Given the description of an element on the screen output the (x, y) to click on. 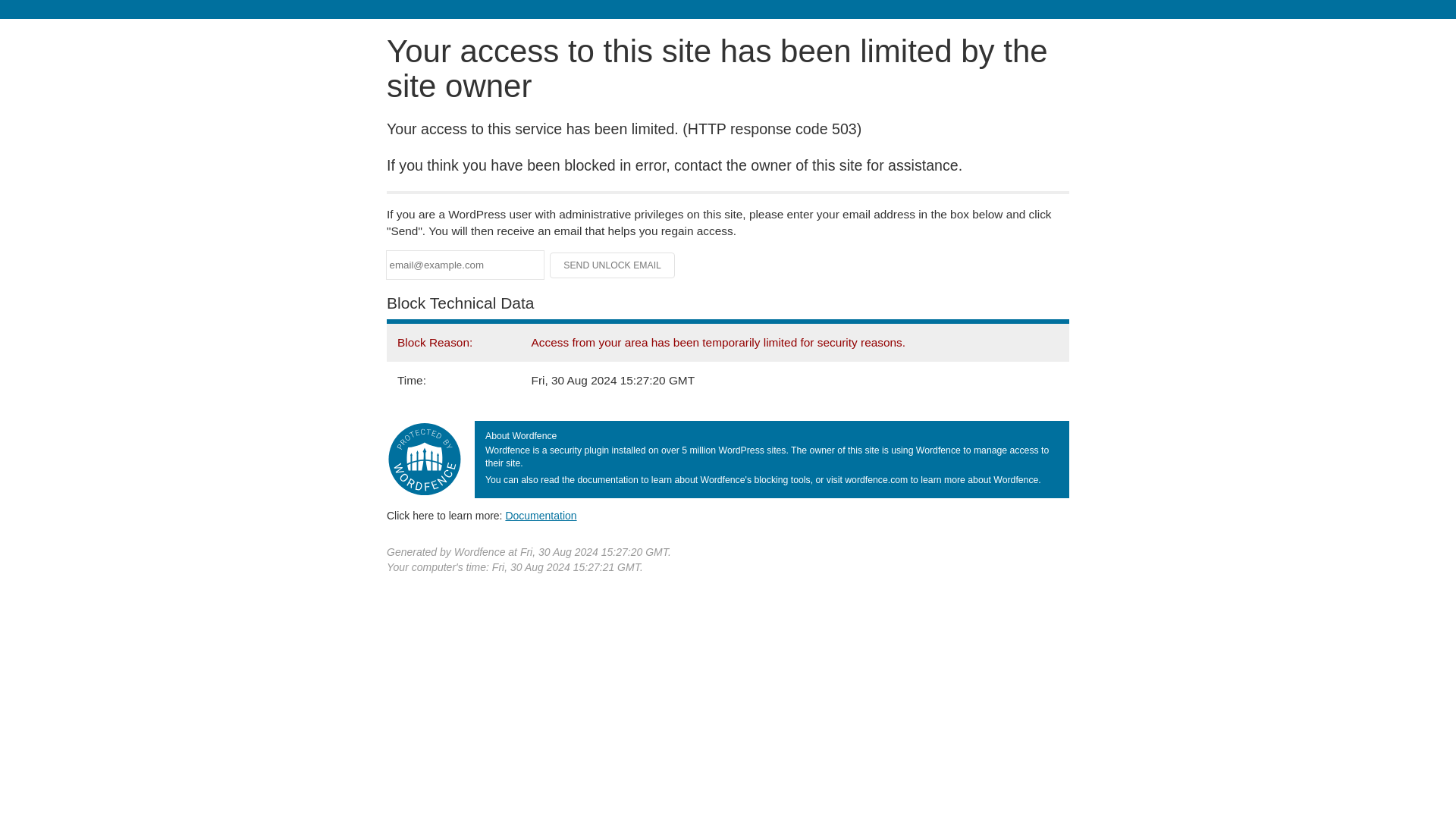
Send Unlock Email (612, 265)
Documentation (540, 515)
Send Unlock Email (612, 265)
